Given the description of an element on the screen output the (x, y) to click on. 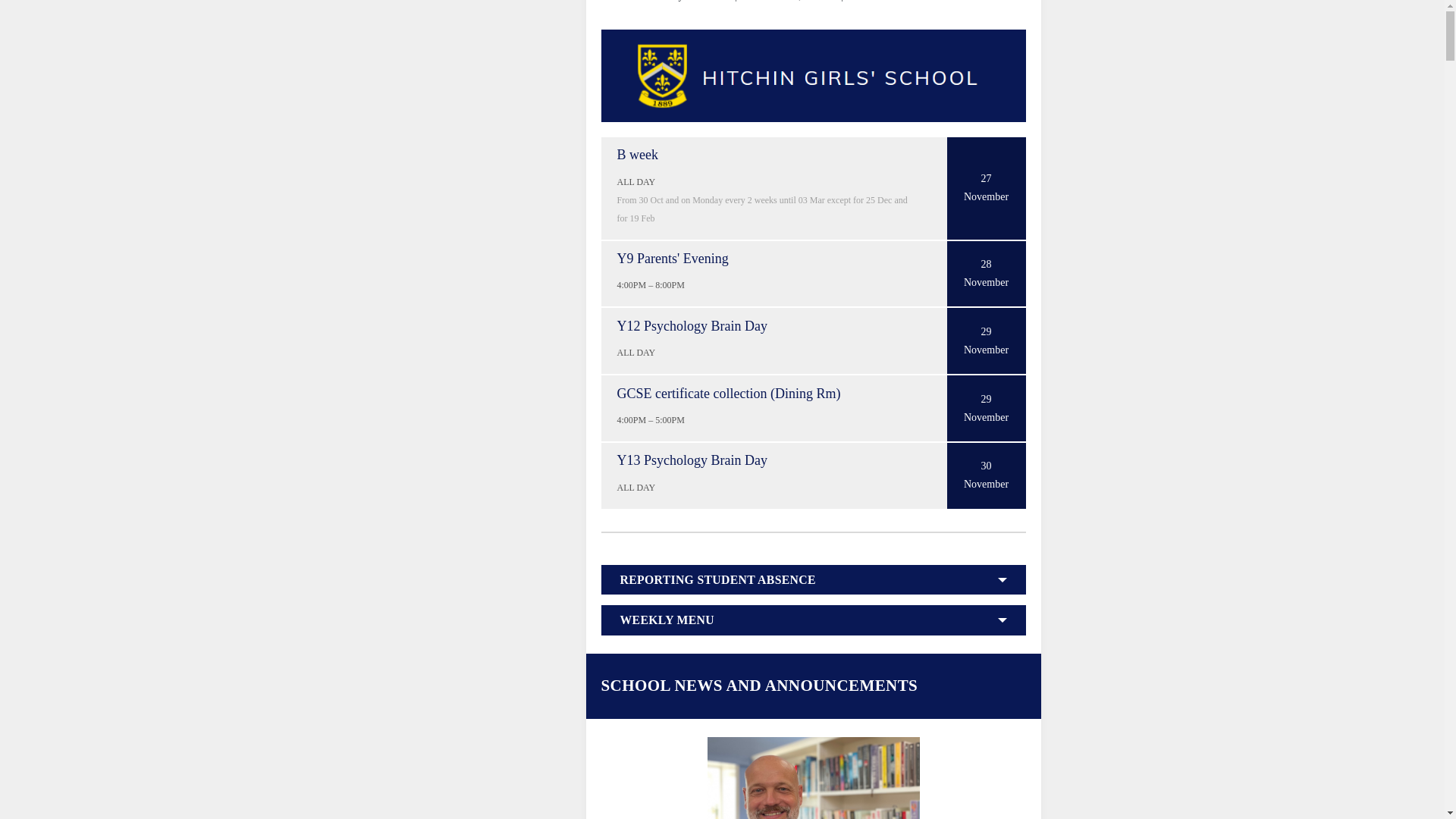
November (986, 483)
Y12 Psychology Brain Day (636, 352)
ALL DAY (636, 487)
B week (986, 196)
B week (637, 154)
Y12 Psychology Brain Day (692, 325)
Y13 Psychology Brain Day (692, 459)
ALL DAY (636, 352)
November (986, 282)
Y12 Psychology Brain Day (692, 325)
